Given the description of an element on the screen output the (x, y) to click on. 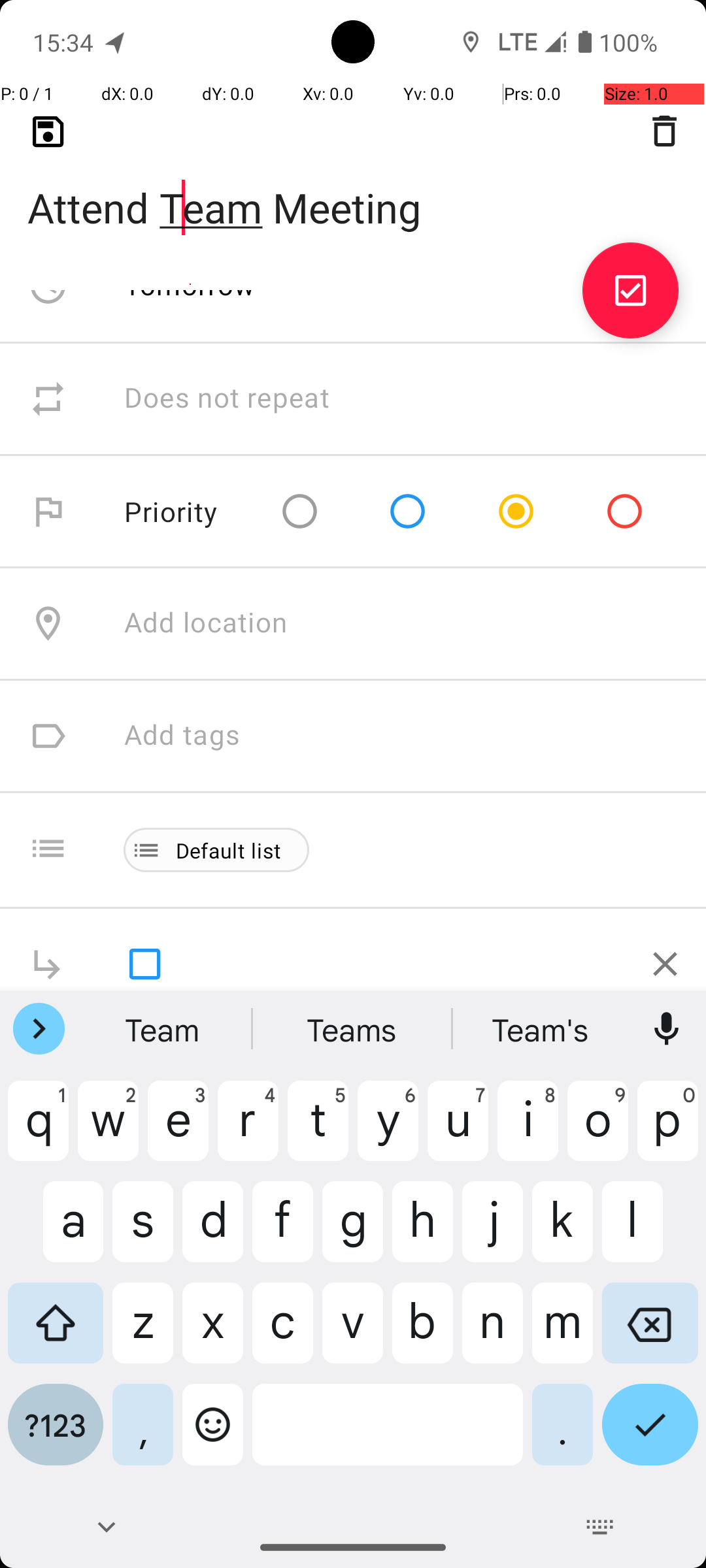
Week before due 05:55 Element type: android.widget.TextView (272, 173)
Team Element type: android.widget.FrameLayout (163, 1028)
Teams Element type: android.widget.FrameLayout (352, 1028)
Team's Element type: android.widget.FrameLayout (541, 1028)
